Given the description of an element on the screen output the (x, y) to click on. 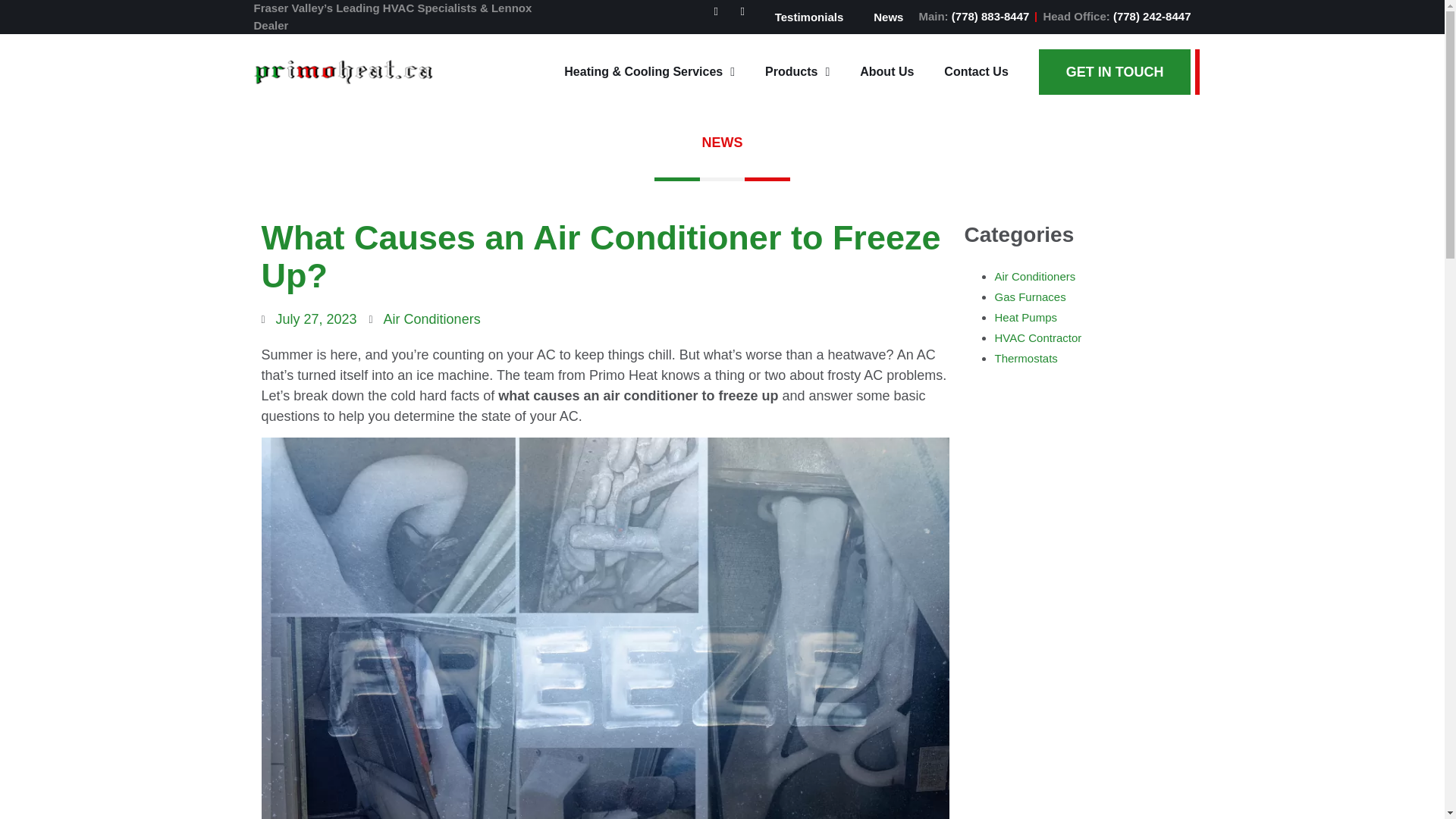
Contact Us (975, 71)
Testimonials (809, 16)
Products (796, 71)
News (888, 16)
About Us (886, 71)
